Given the description of an element on the screen output the (x, y) to click on. 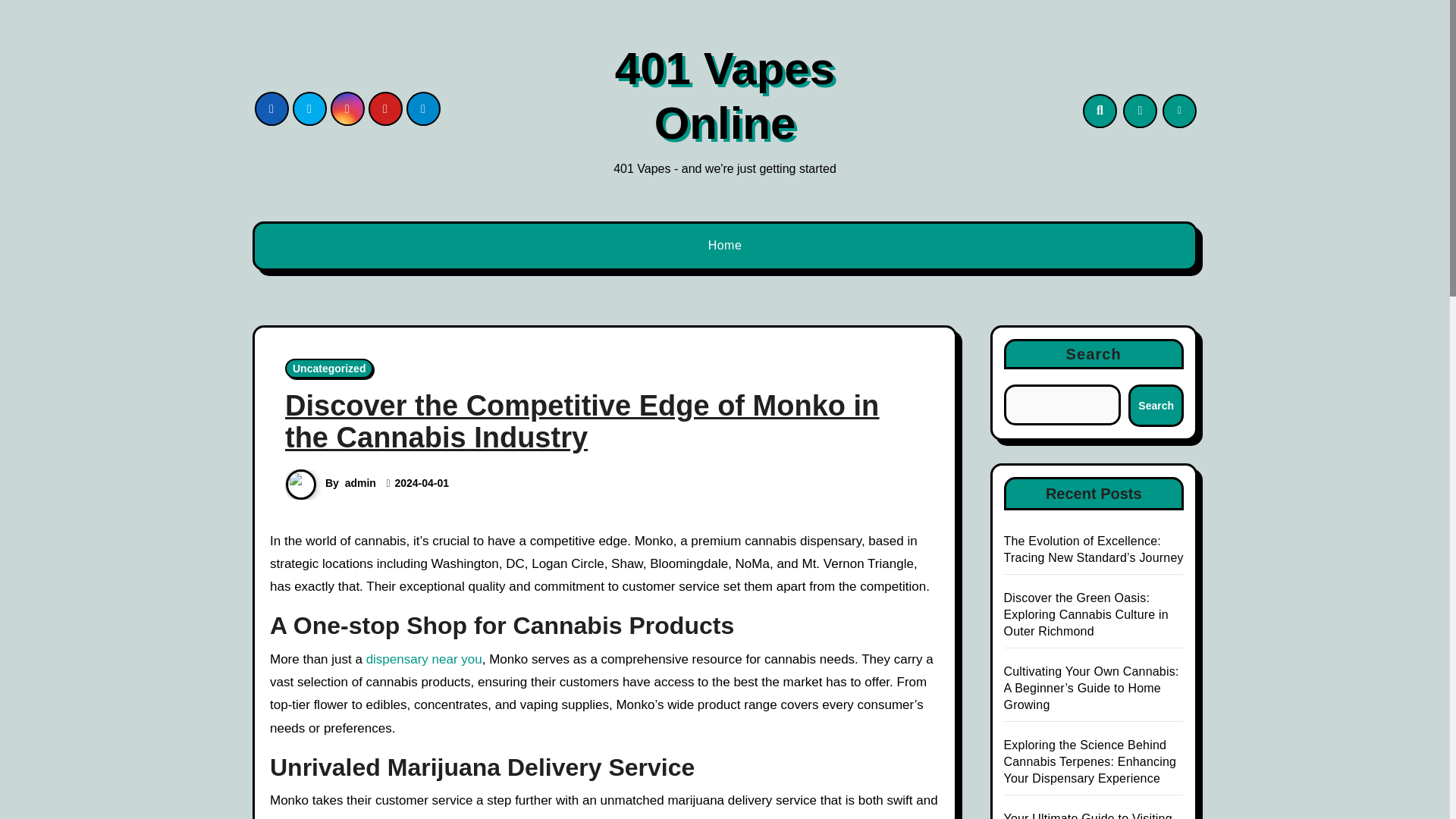
401 Vapes Online (724, 95)
admin (360, 482)
Home (725, 245)
2024-04-01 (421, 482)
Home (725, 245)
dispensary near you (423, 658)
Uncategorized (328, 368)
